Given the description of an element on the screen output the (x, y) to click on. 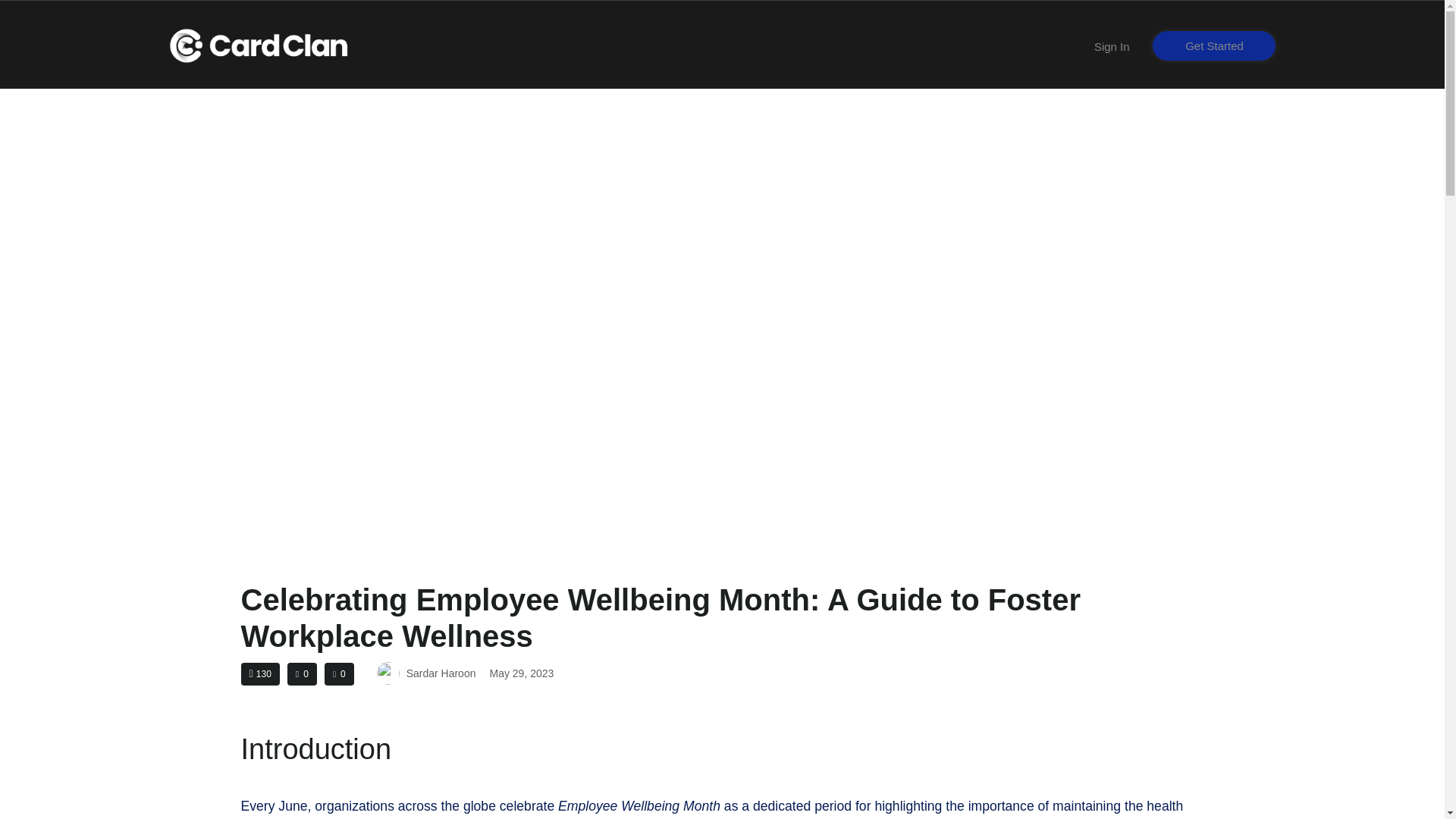
0 (338, 673)
Sardar Haroon (426, 673)
Get Started (1214, 45)
Sign In (1111, 45)
0 (301, 673)
